Given the description of an element on the screen output the (x, y) to click on. 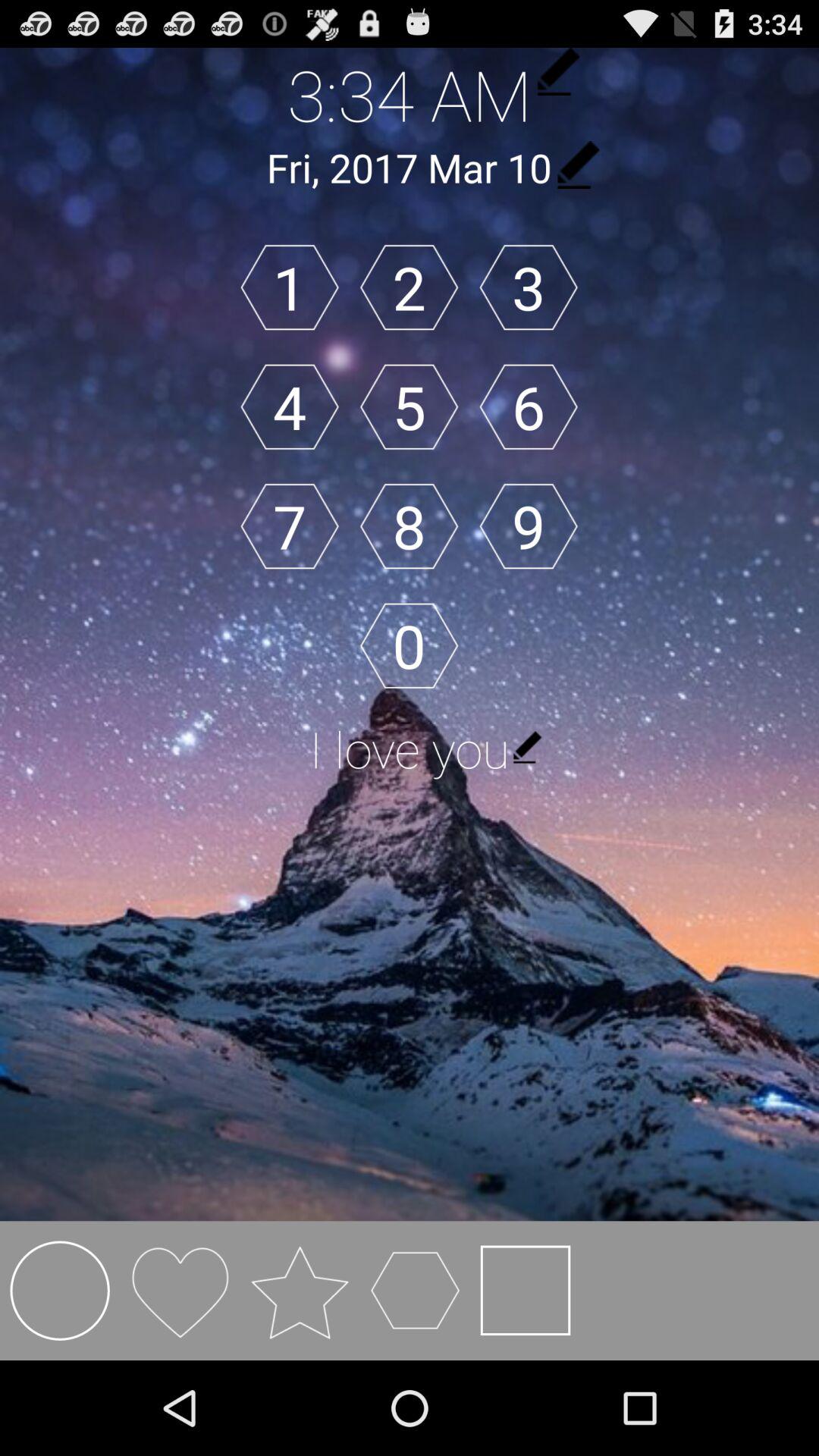
select item below 1 icon (289, 406)
